Given the description of an element on the screen output the (x, y) to click on. 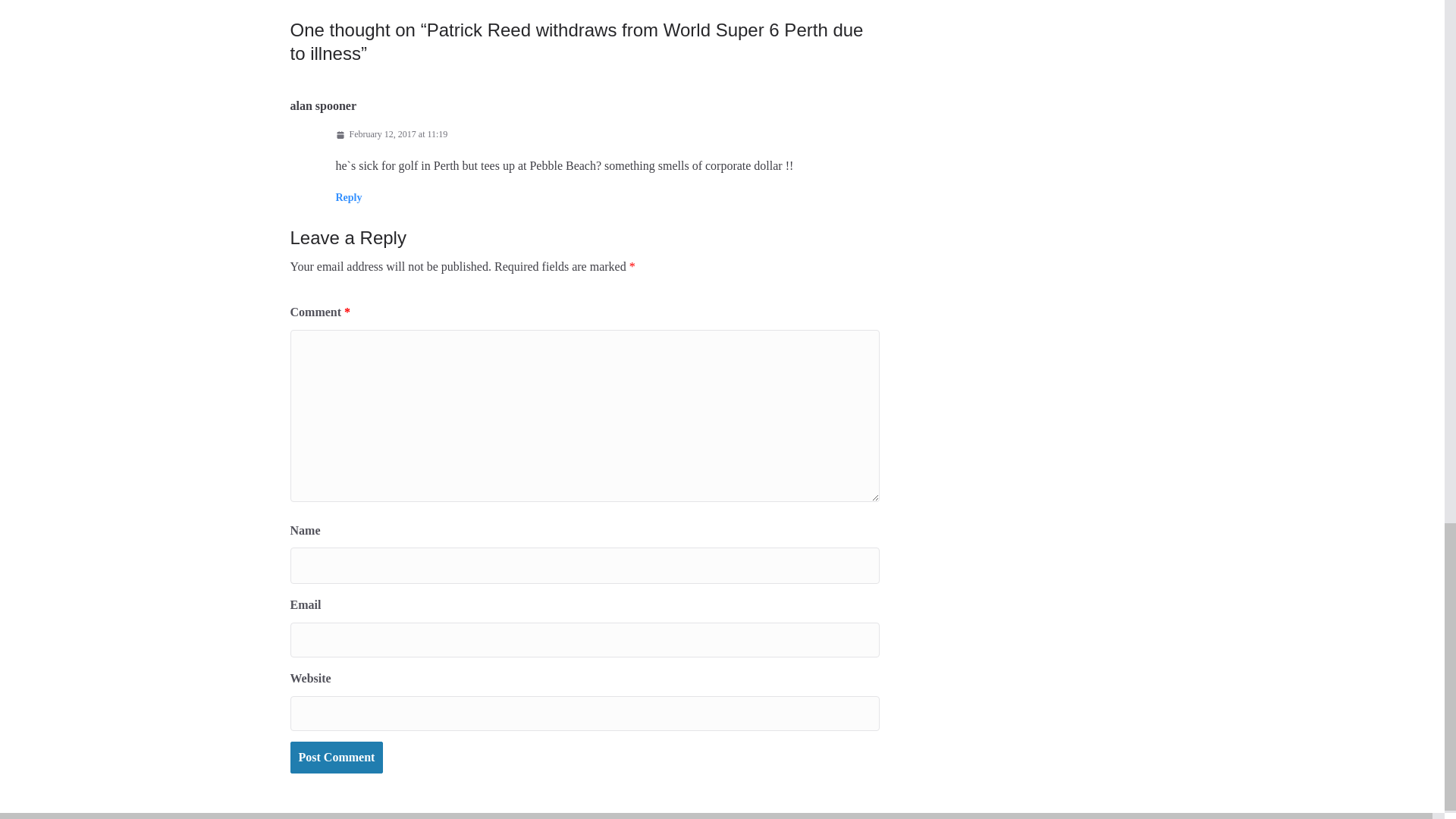
Post Comment (335, 757)
Post Comment (335, 757)
Reply (347, 197)
